Given the description of an element on the screen output the (x, y) to click on. 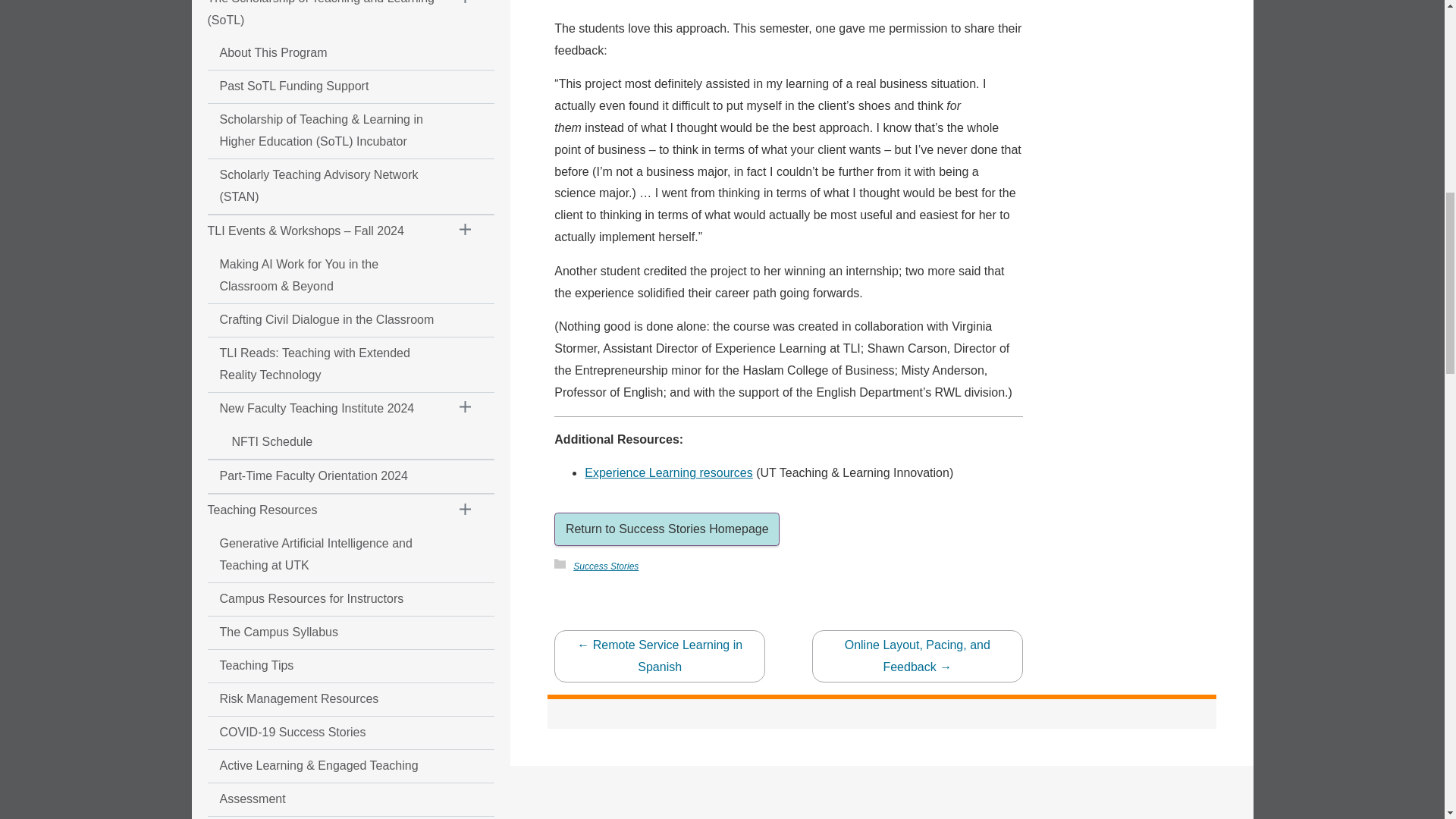
Toggle Sub Menu (465, 231)
Toggle Sub Menu (465, 409)
Toggle Sub Menu (465, 7)
TLI Reads: Teaching with Extended Reality Technology (322, 364)
Past SoTL Funding Support (322, 86)
NFTI Schedule (322, 441)
Crafting Civil Dialogue in the Classroom (322, 319)
New Faculty Teaching Institute 2024 (322, 409)
About This Program (322, 52)
